Given the description of an element on the screen output the (x, y) to click on. 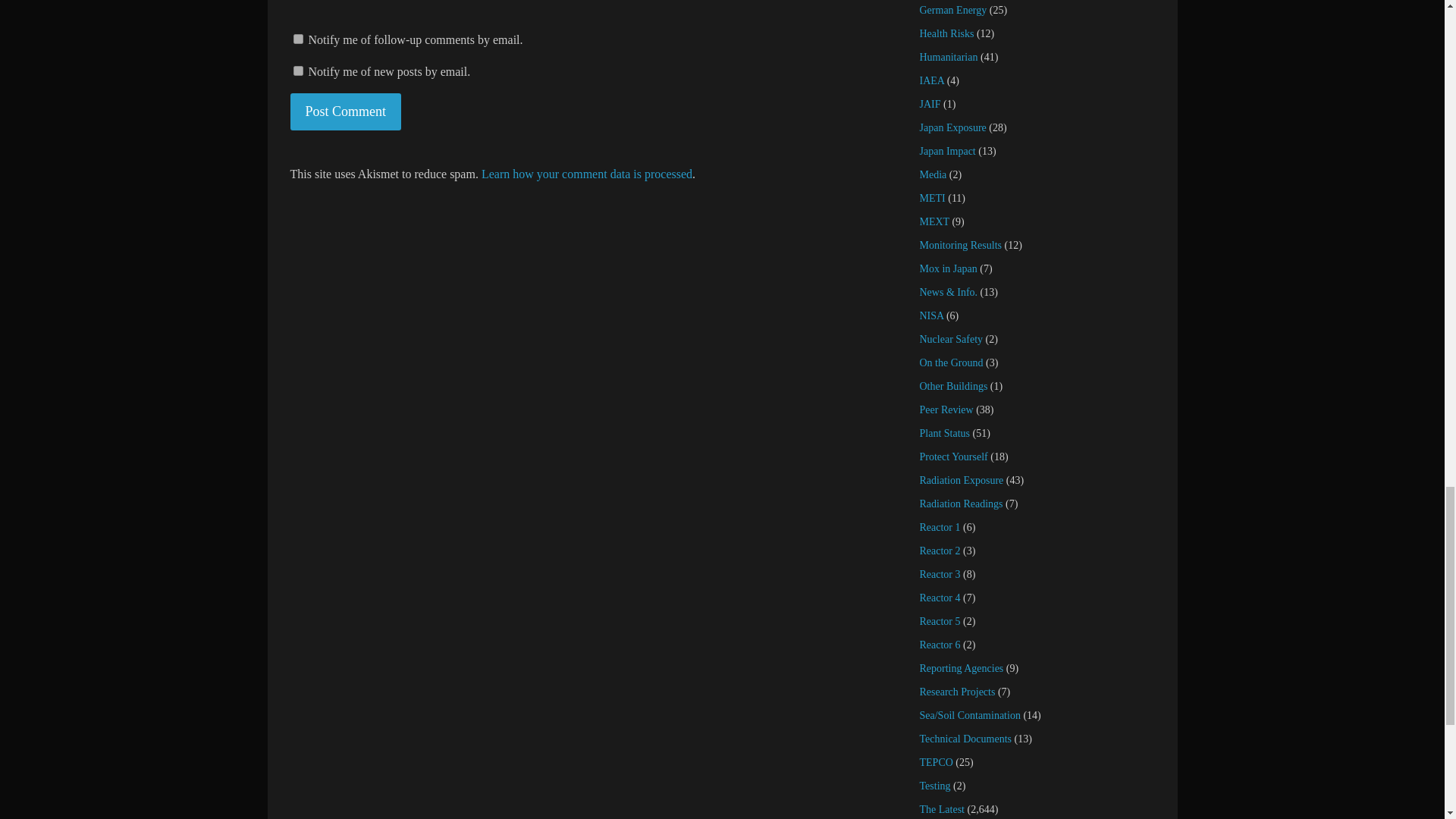
Post Comment (345, 111)
subscribe (297, 71)
subscribe (297, 39)
